Given the description of an element on the screen output the (x, y) to click on. 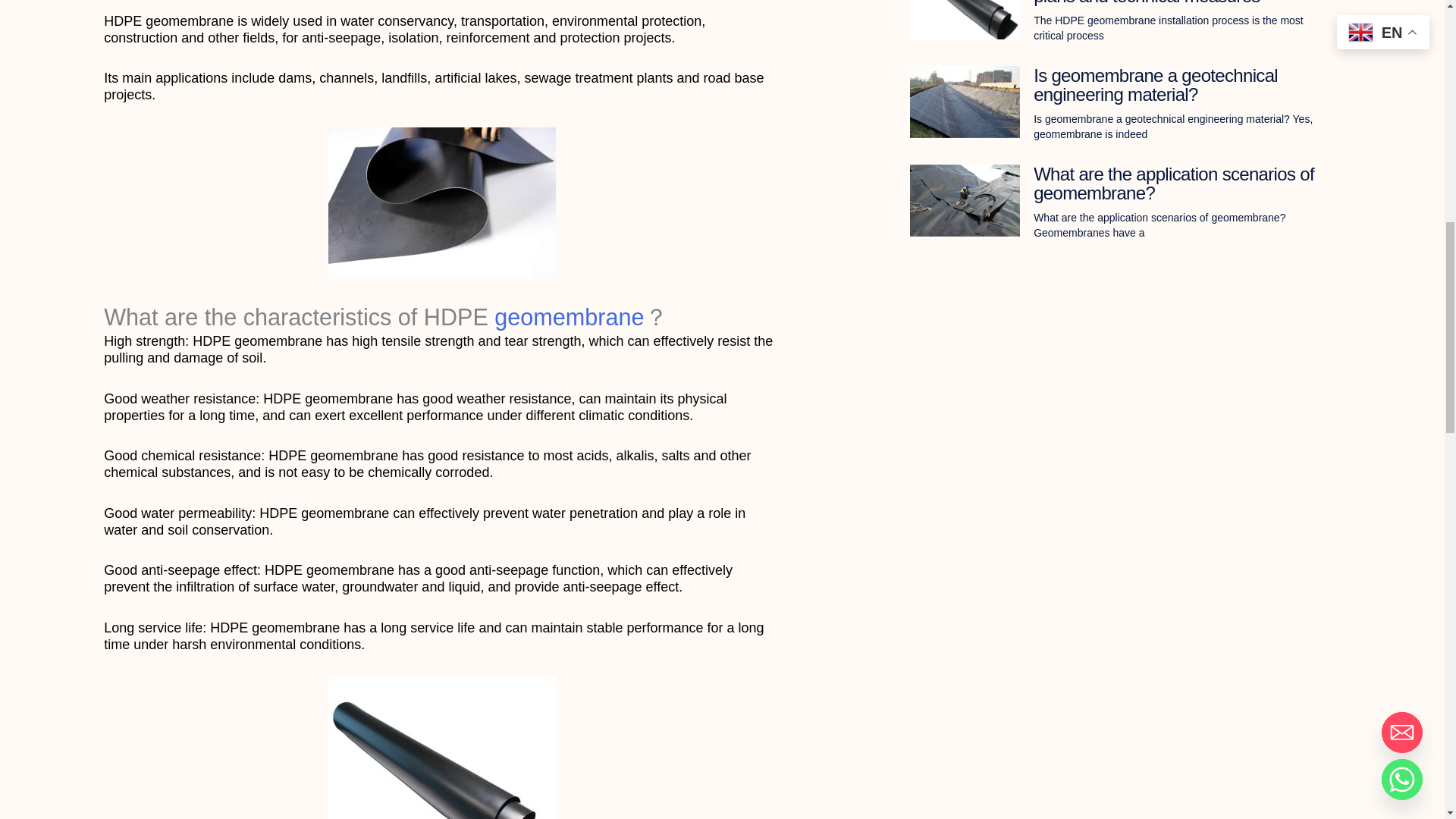
What are the characteristics of HDPE geomembrane 1 (442, 203)
What are the characteristics of HDPE geomembrane 2 (442, 747)
